Given the description of an element on the screen output the (x, y) to click on. 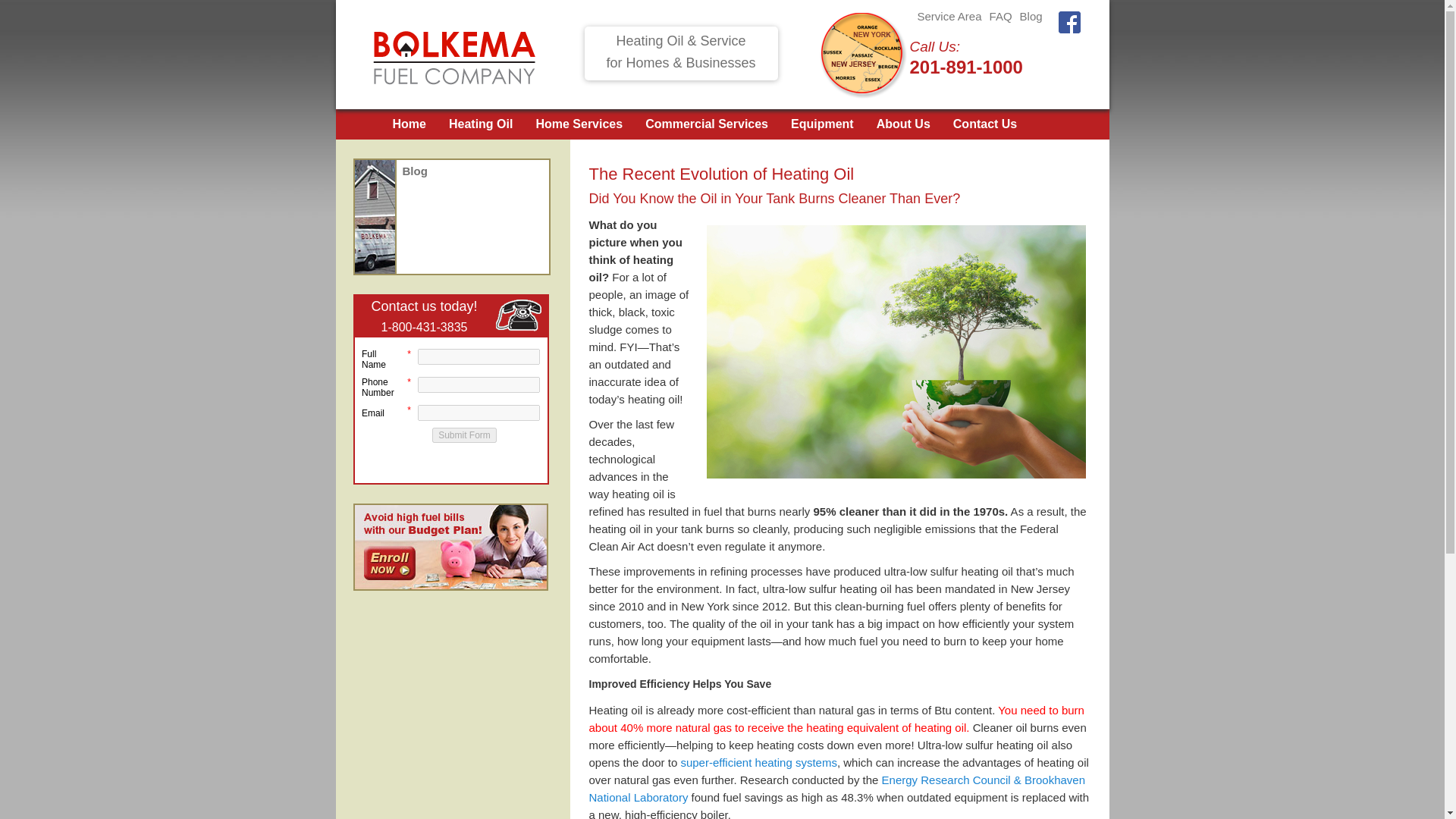
Heating Oil (480, 123)
Commercial Services (706, 123)
Brookhaven (836, 788)
Home (409, 123)
Equipment (821, 123)
Service Area (949, 15)
About Us (903, 123)
equipment (758, 762)
FAQ (1000, 15)
Blog (1031, 15)
